Given the description of an element on the screen output the (x, y) to click on. 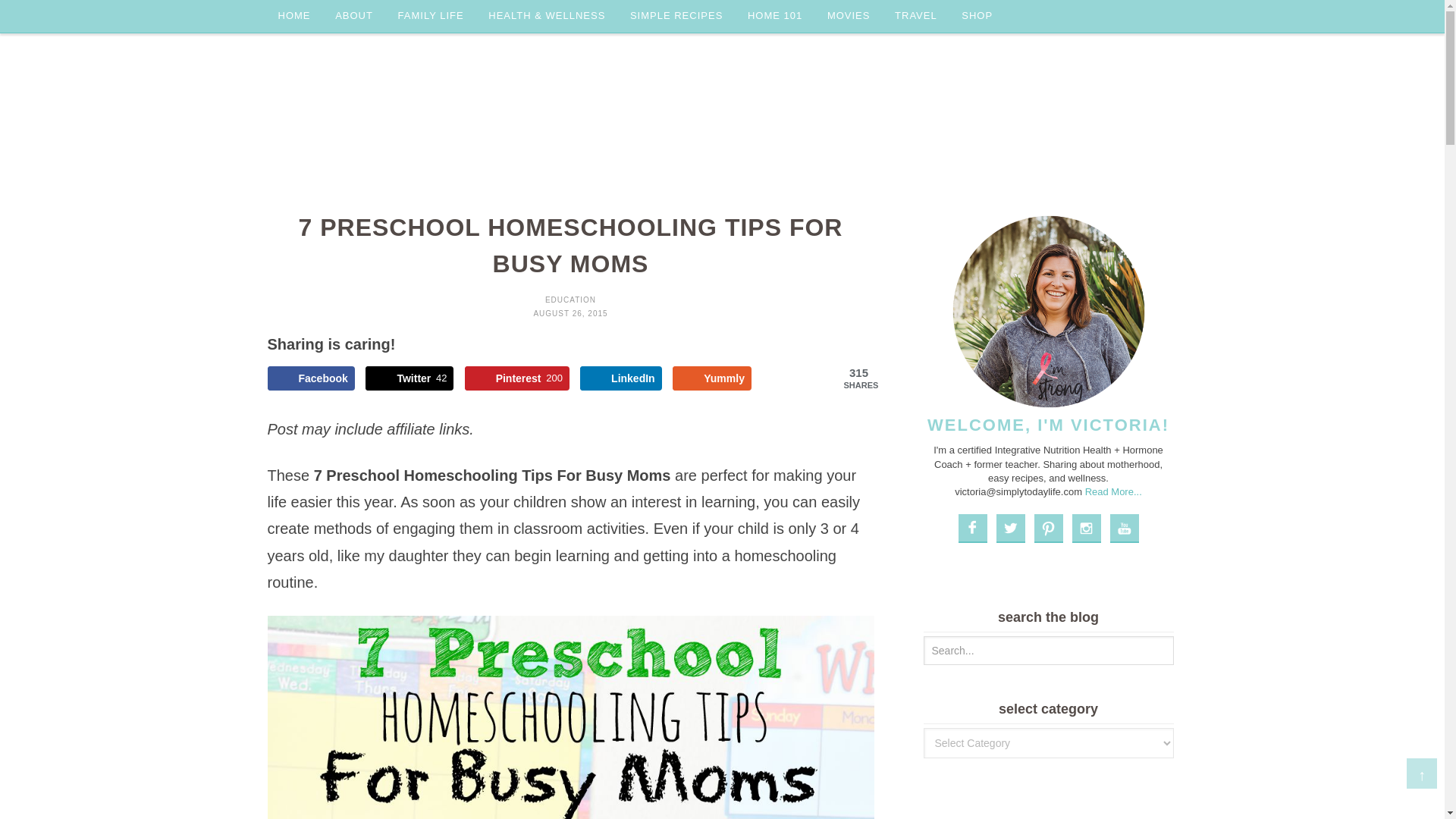
MOVIES (848, 16)
Share on LinkedIn (620, 377)
Share on X (408, 377)
FAMILY LIFE (430, 16)
Share on Yummly (711, 377)
HOME (293, 16)
SIMPLE RECIPES (676, 16)
ABOUT (354, 16)
TRAVEL (915, 16)
HOME 101 (774, 16)
Save to Pinterest (516, 377)
Share on Facebook (309, 377)
